Given the description of an element on the screen output the (x, y) to click on. 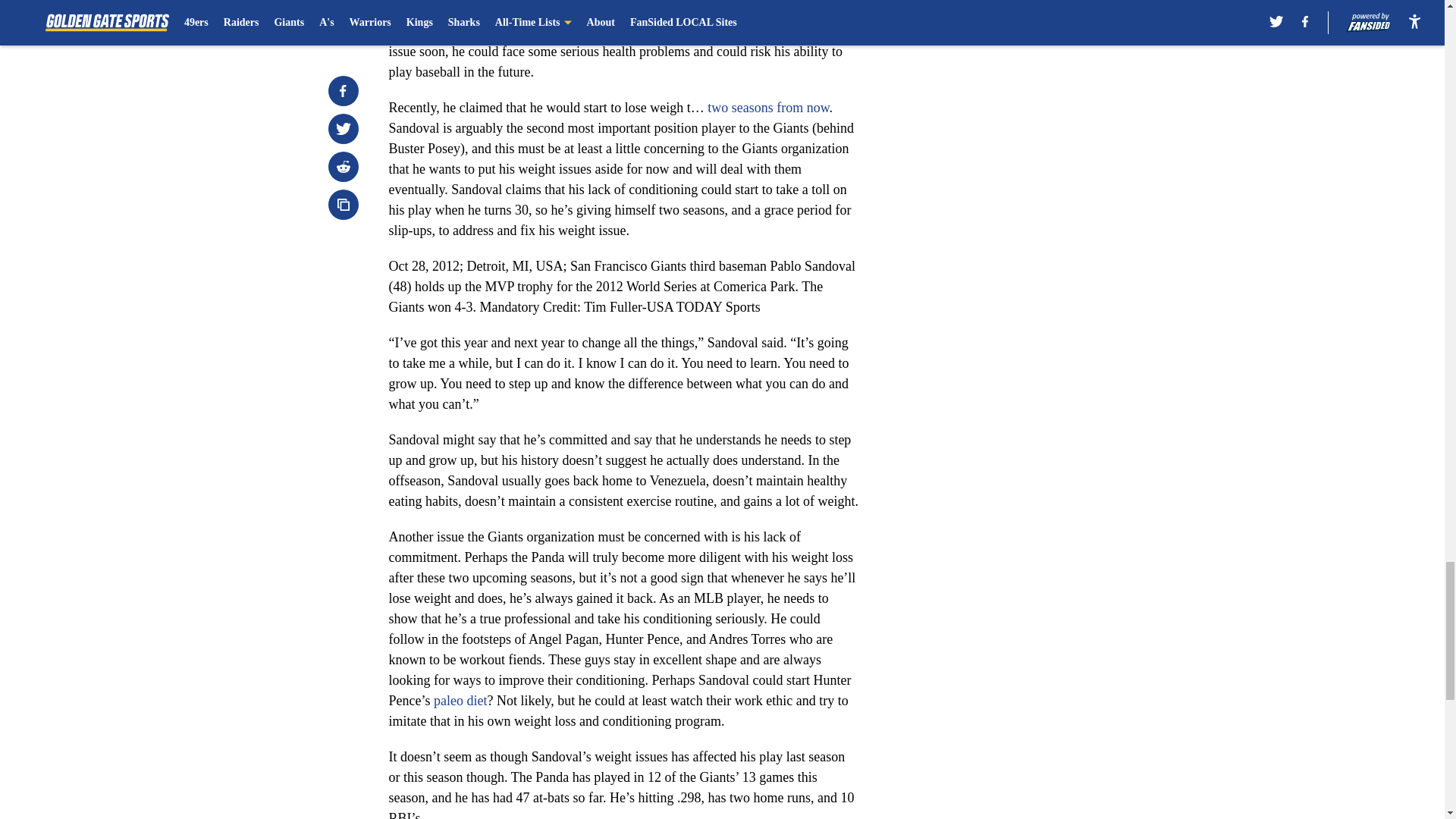
paleo diet (459, 700)
two seasons from now (767, 107)
